Given the description of an element on the screen output the (x, y) to click on. 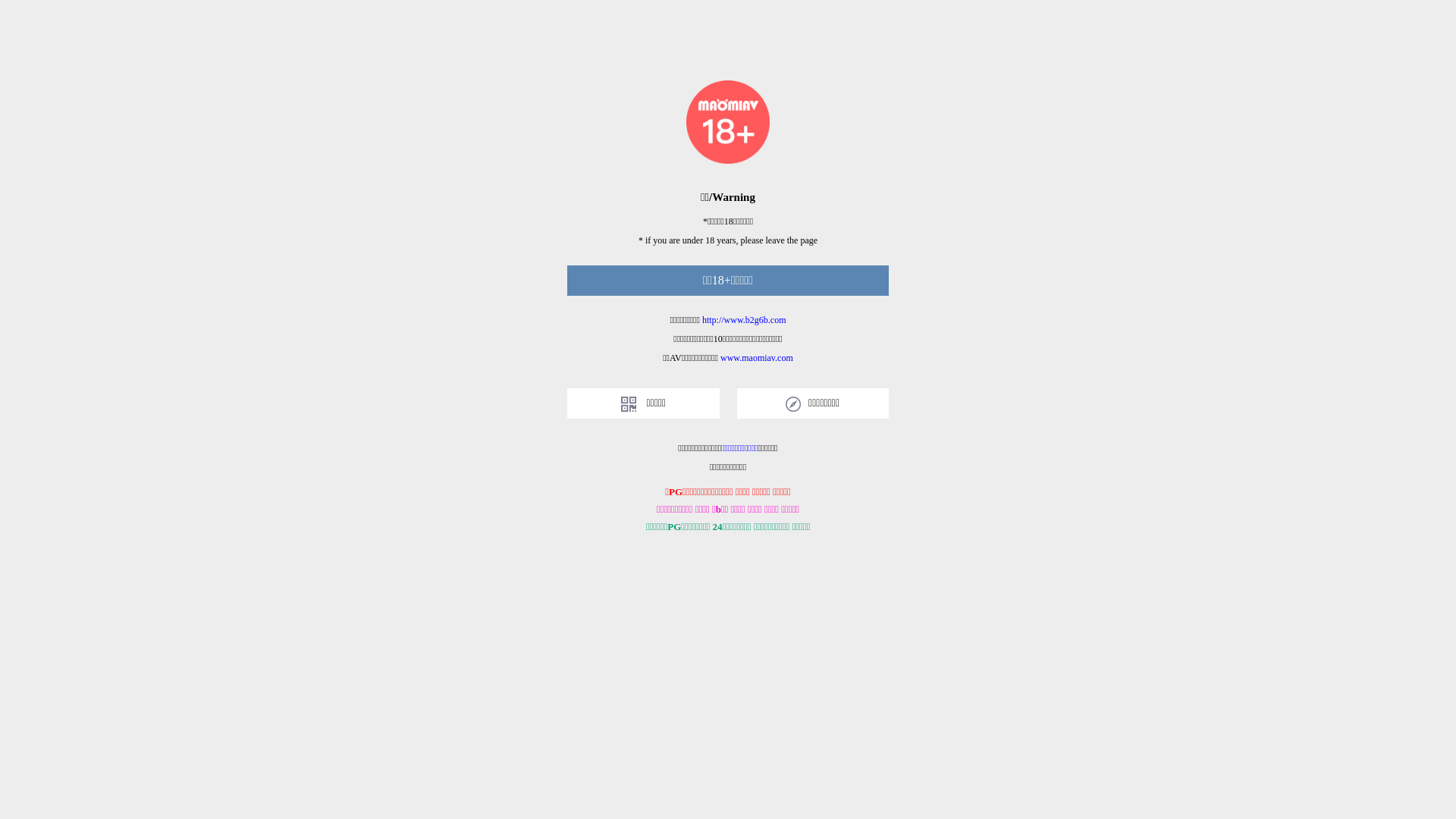
http://www.b2g6b.com Element type: text (744, 319)
www.maomiav.com Element type: text (756, 357)
